Given the description of an element on the screen output the (x, y) to click on. 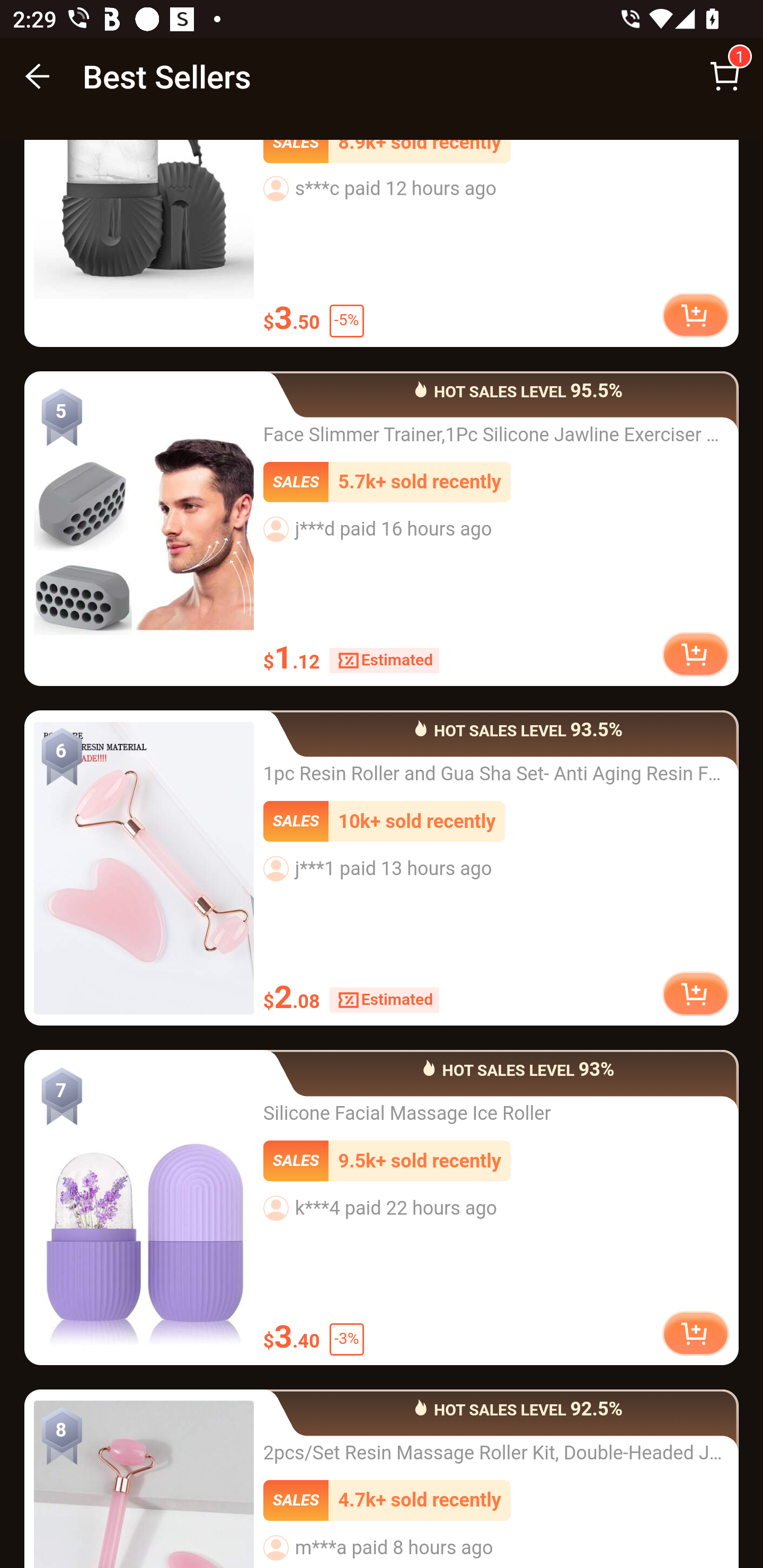
BACK (38, 75)
Cart 1 (724, 75)
add to cart (695, 317)
add to cart (695, 654)
add to cart (695, 995)
Silicone Facial Massage Ice Roller (143, 1208)
add to cart (695, 1333)
